Given the description of an element on the screen output the (x, y) to click on. 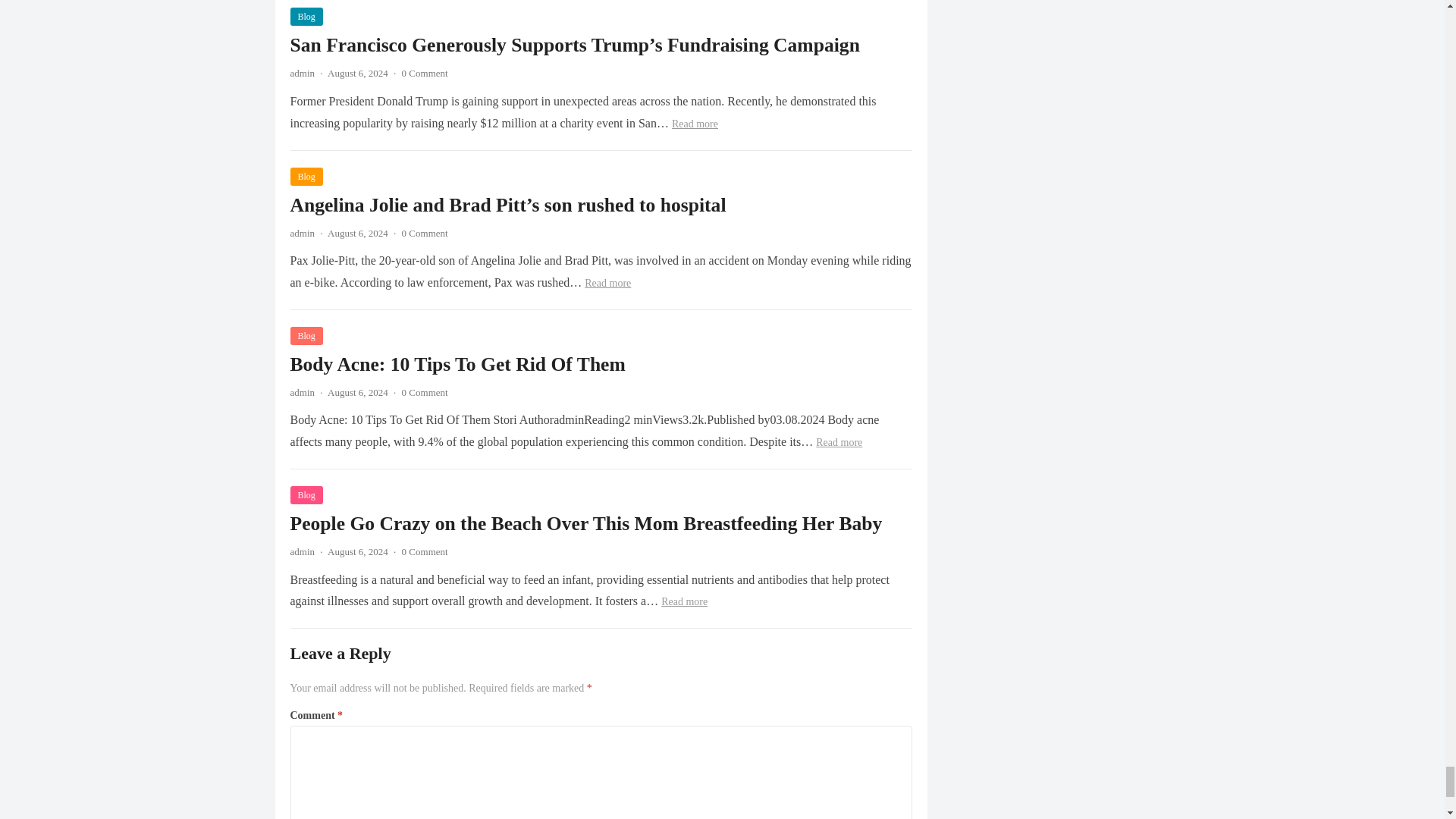
Posts by admin (301, 72)
Read more (838, 441)
admin (301, 392)
Blog (305, 16)
0 Comment (424, 392)
Read more (694, 123)
admin (301, 72)
Posts by admin (301, 392)
Body Acne: 10 Tips To Get Rid Of Them (456, 363)
admin (301, 233)
0 Comment (424, 551)
Posts by admin (301, 233)
Blog (305, 176)
Blog (305, 335)
